Given the description of an element on the screen output the (x, y) to click on. 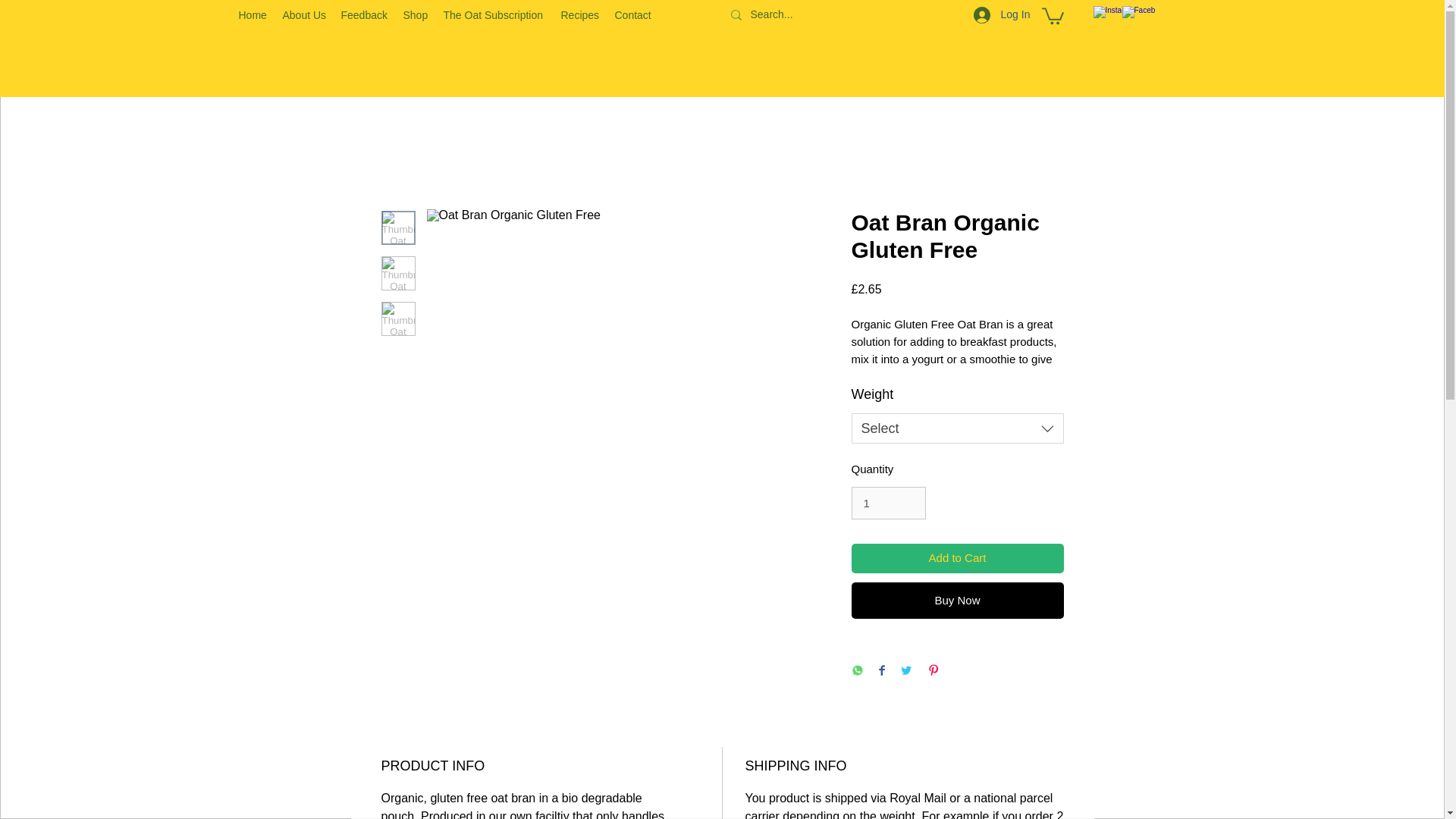
Add to Cart (956, 558)
1 (887, 503)
Buy Now (956, 600)
Feedback (364, 15)
Contact (633, 15)
Select (956, 428)
The Oat Subscription (494, 15)
About Us (304, 15)
Home (252, 15)
Log In (997, 14)
